Given the description of an element on the screen output the (x, y) to click on. 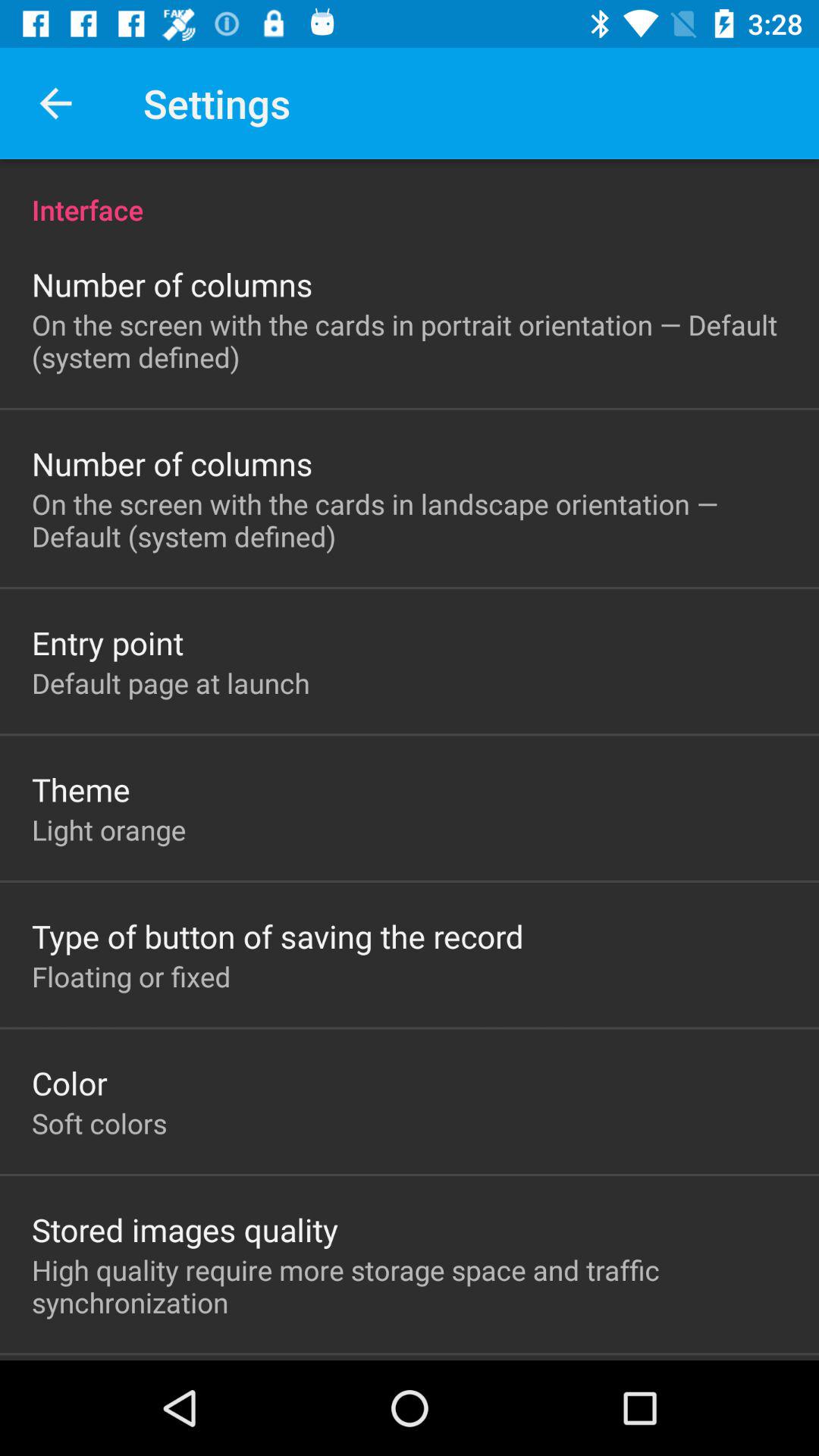
open icon below the soft colors (184, 1229)
